Given the description of an element on the screen output the (x, y) to click on. 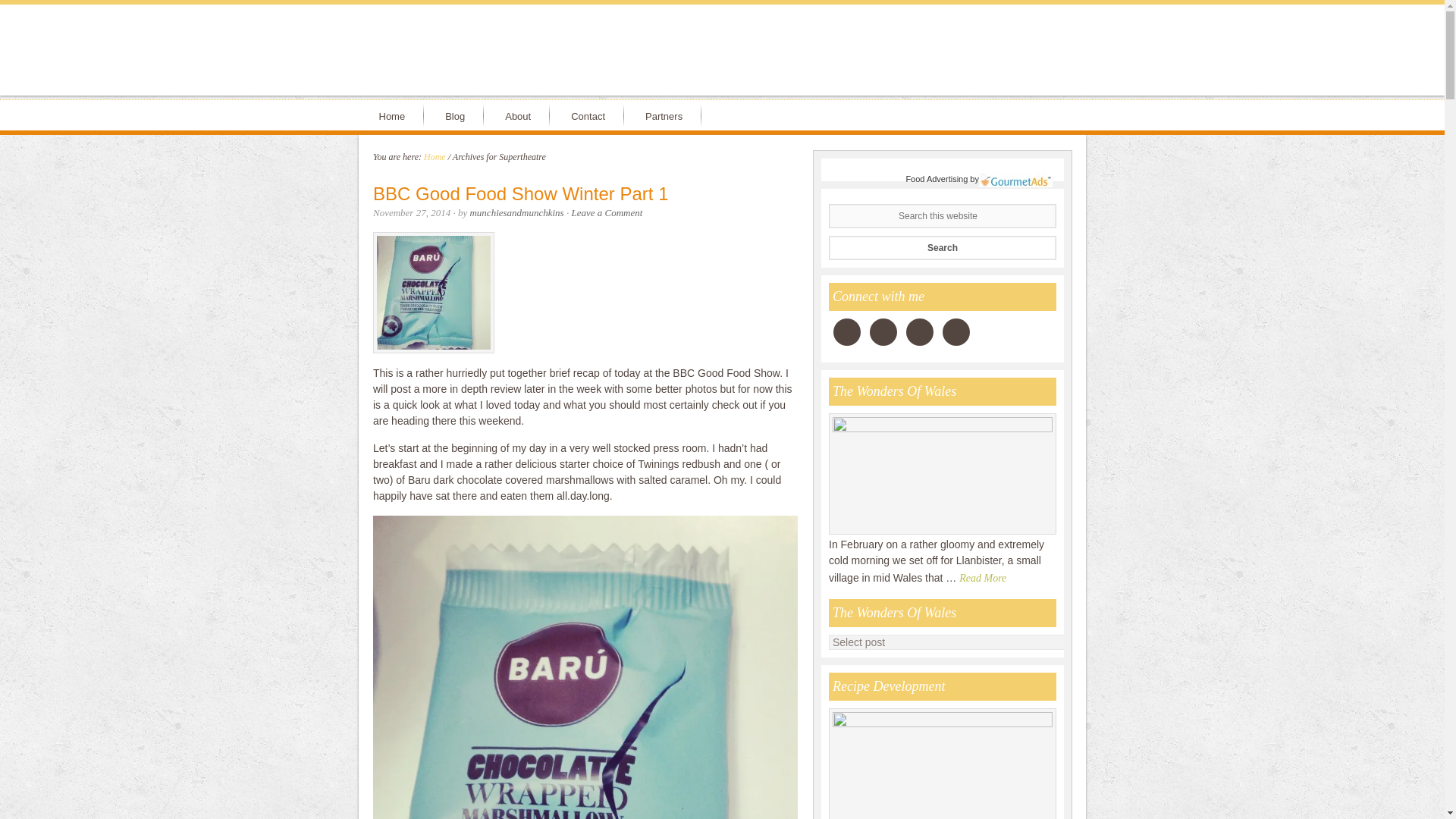
BBC Good Food Show Winter Part 1 (520, 193)
About (521, 114)
Search (942, 247)
Blog (458, 114)
Leave a Comment (606, 212)
Home (395, 114)
Contact (590, 114)
Food Advertising (936, 178)
munchiesandmunchkins (515, 212)
Search (942, 247)
Home (434, 156)
Munchies and Munchkins (722, 57)
Partners (666, 114)
